Given the description of an element on the screen output the (x, y) to click on. 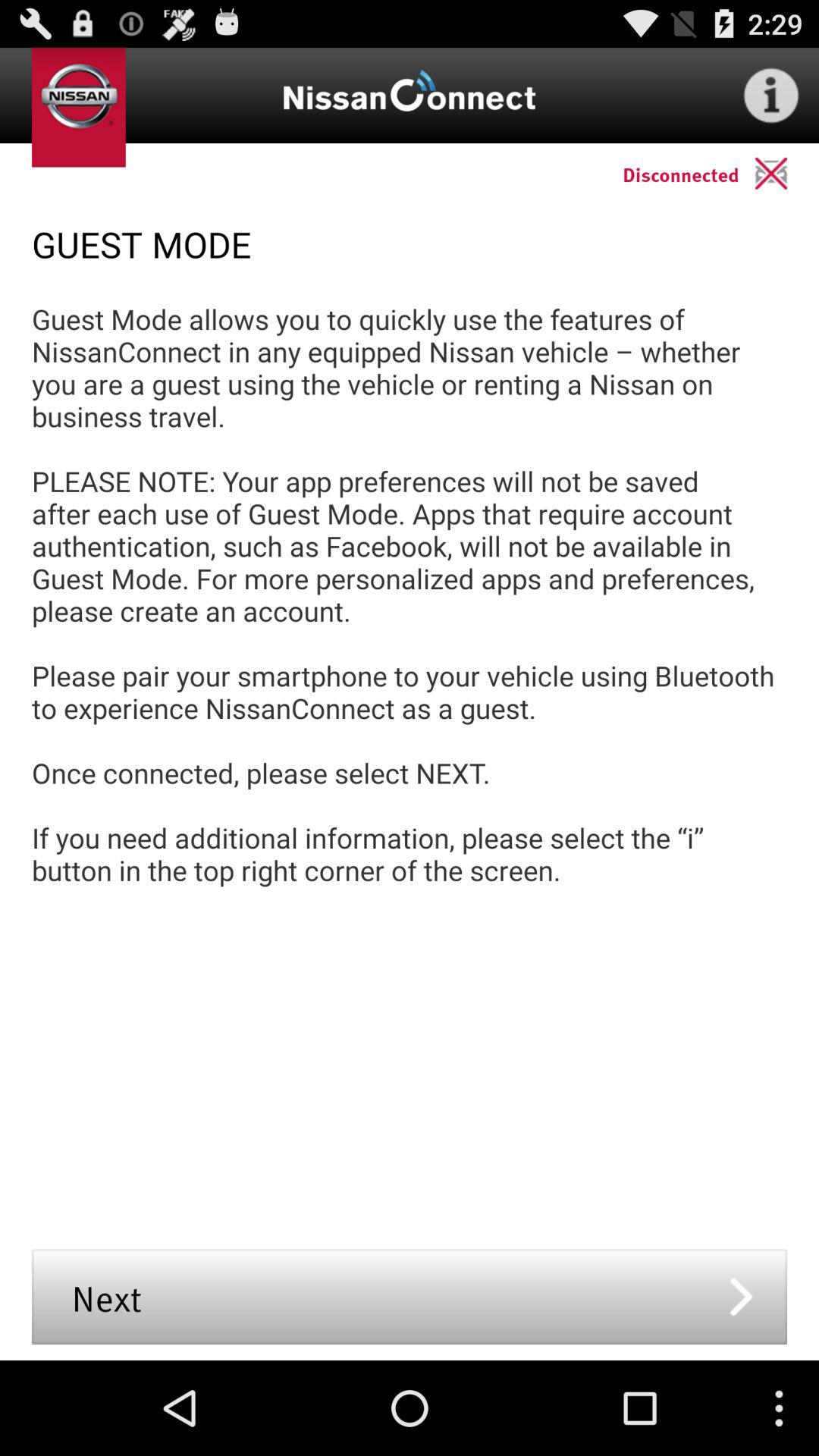
open the icon to the right of the disconnected (787, 173)
